Given the description of an element on the screen output the (x, y) to click on. 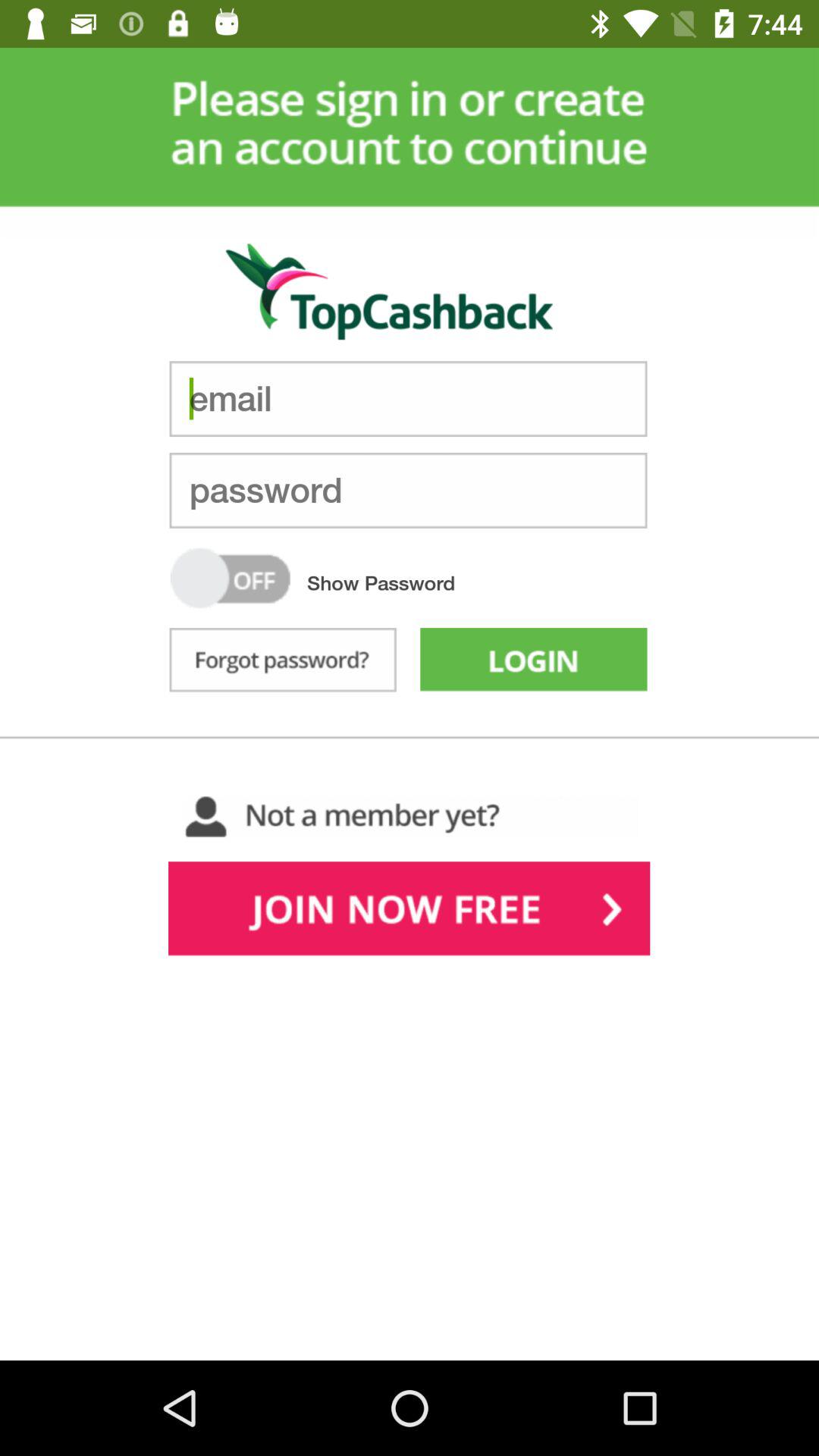
type in email address (408, 398)
